Given the description of an element on the screen output the (x, y) to click on. 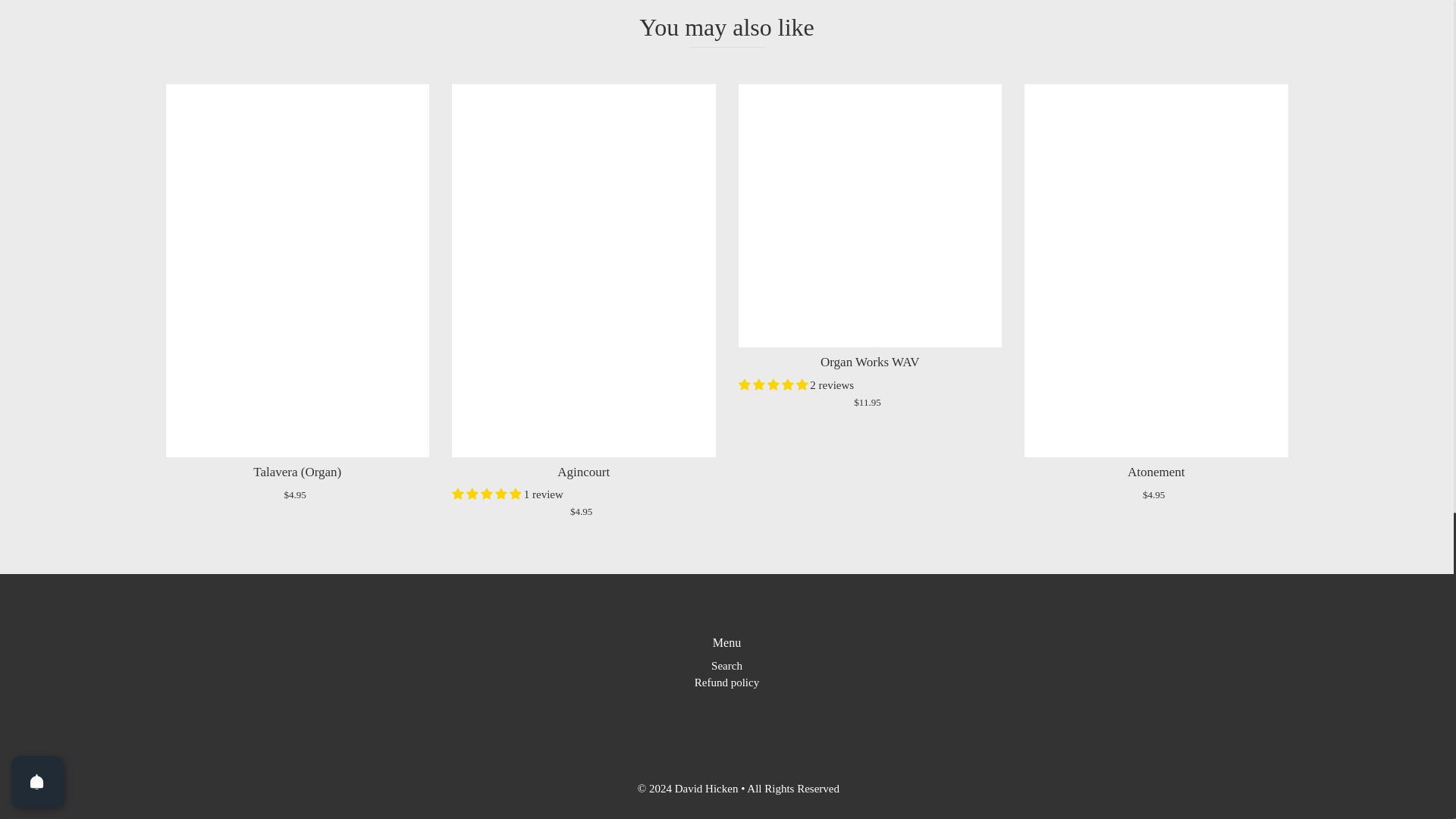
Organ Works WAV (870, 216)
